Given the description of an element on the screen output the (x, y) to click on. 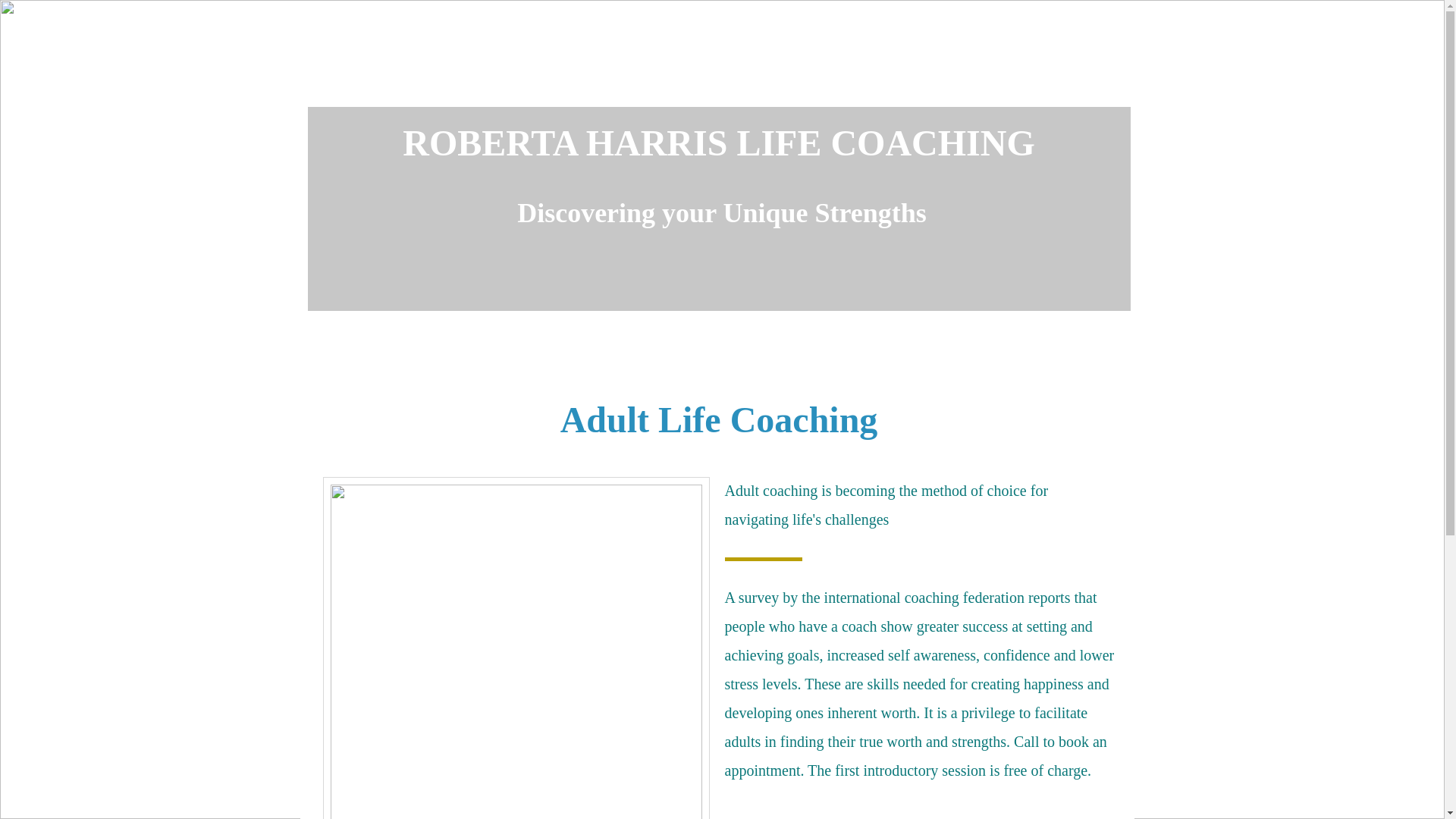
Reviews (885, 71)
Home (359, 71)
About Roberta (473, 71)
Gallery (786, 71)
More (1077, 71)
Contact (986, 71)
Services (594, 71)
Events (692, 71)
